Given the description of an element on the screen output the (x, y) to click on. 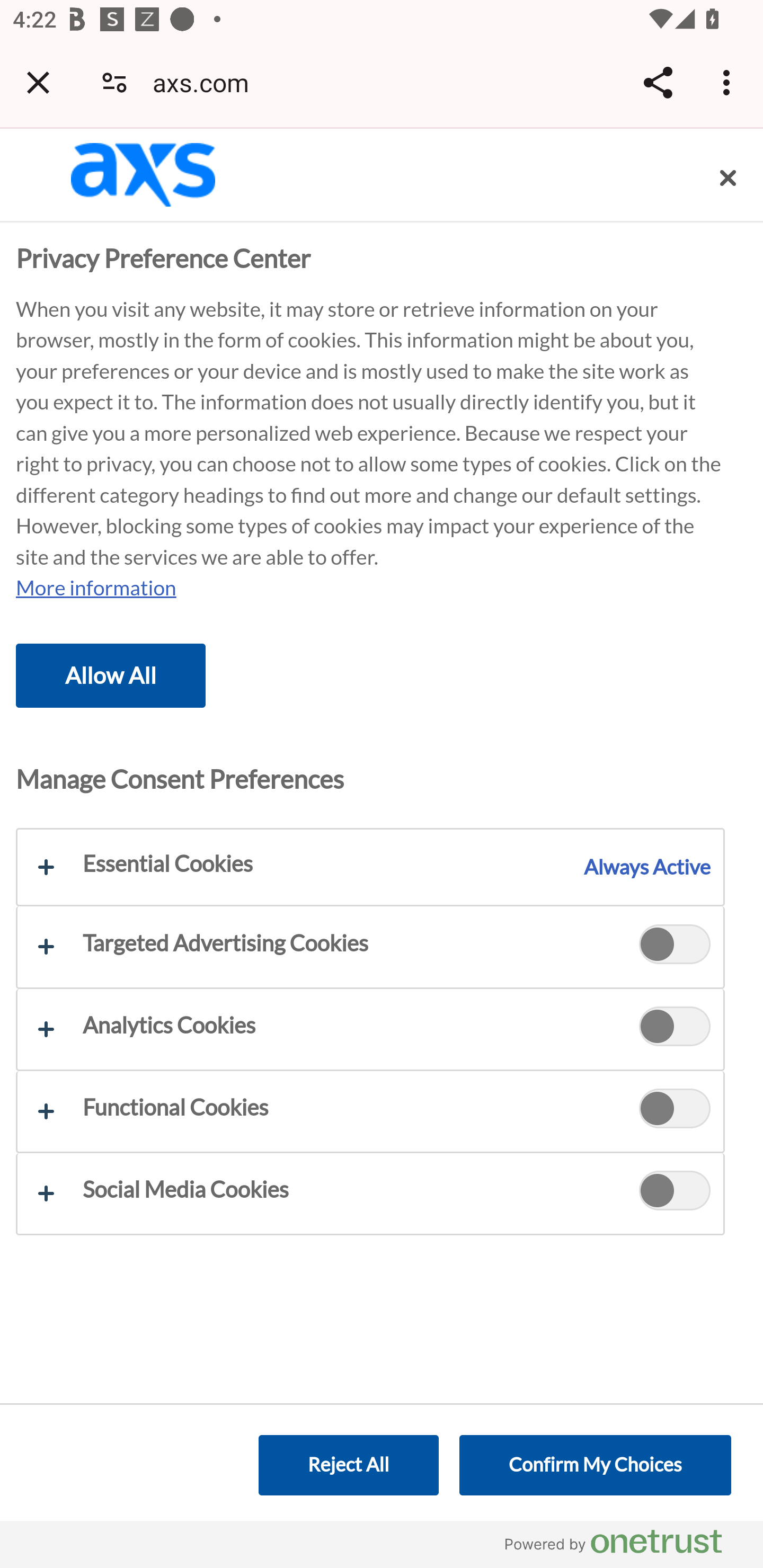
Close tab (38, 82)
Share (657, 82)
Customize and control Google Chrome (729, 82)
Connection is secure (114, 81)
axs.com (206, 81)
Close (727, 177)
Allow All (111, 674)
Essential Cookies Always Active (370, 867)
Targeted Advertising Cookies (370, 946)
Targeted Advertising Cookies (674, 946)
Analytics Cookies (370, 1028)
Analytics Cookies (674, 1029)
Functional Cookies (370, 1110)
Functional Cookies (674, 1111)
Social Media Cookies (370, 1193)
Social Media Cookies (674, 1192)
Reject All (347, 1464)
Confirm My Choices (593, 1464)
